Given the description of an element on the screen output the (x, y) to click on. 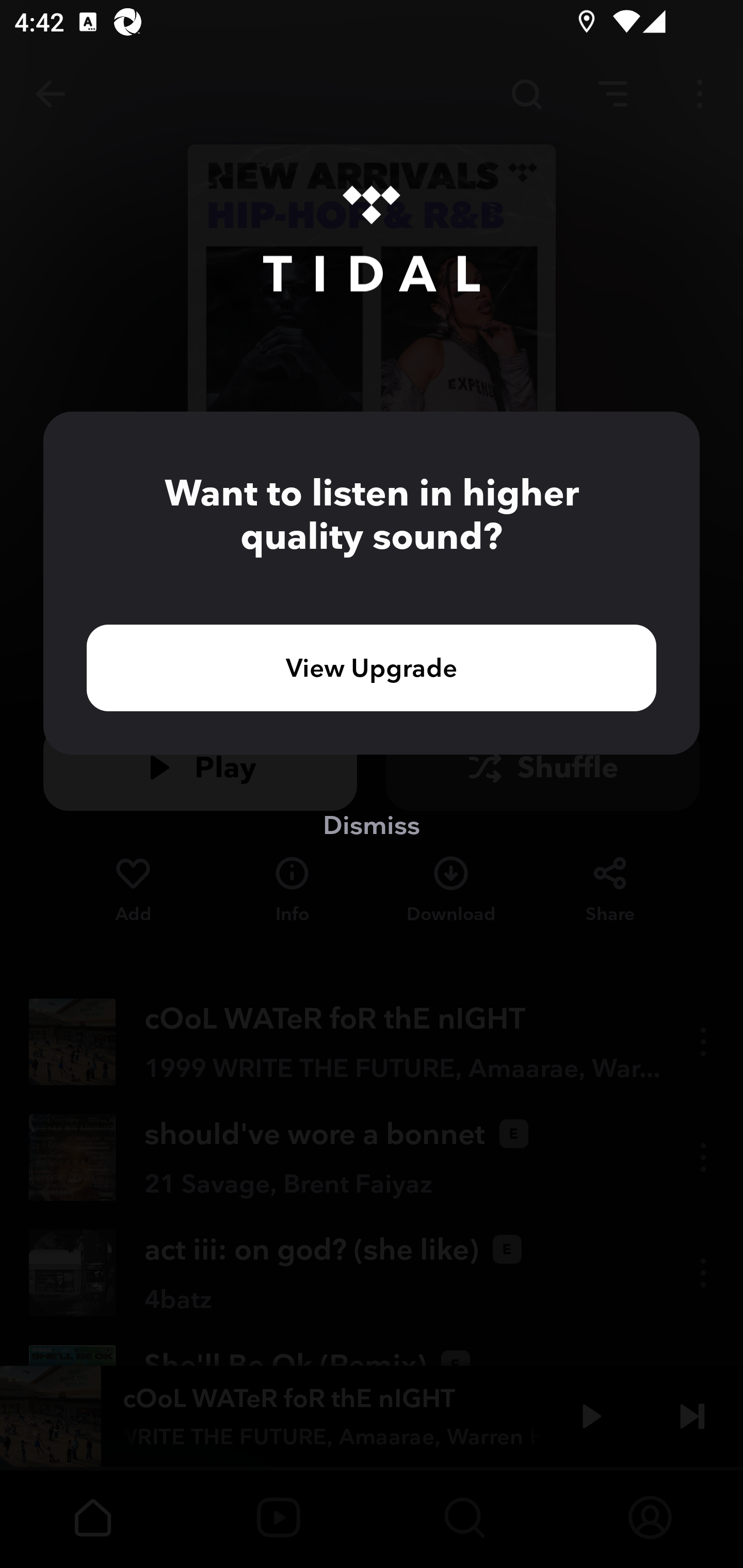
View Upgrade (371, 667)
Dismiss (371, 824)
